Given the description of an element on the screen output the (x, y) to click on. 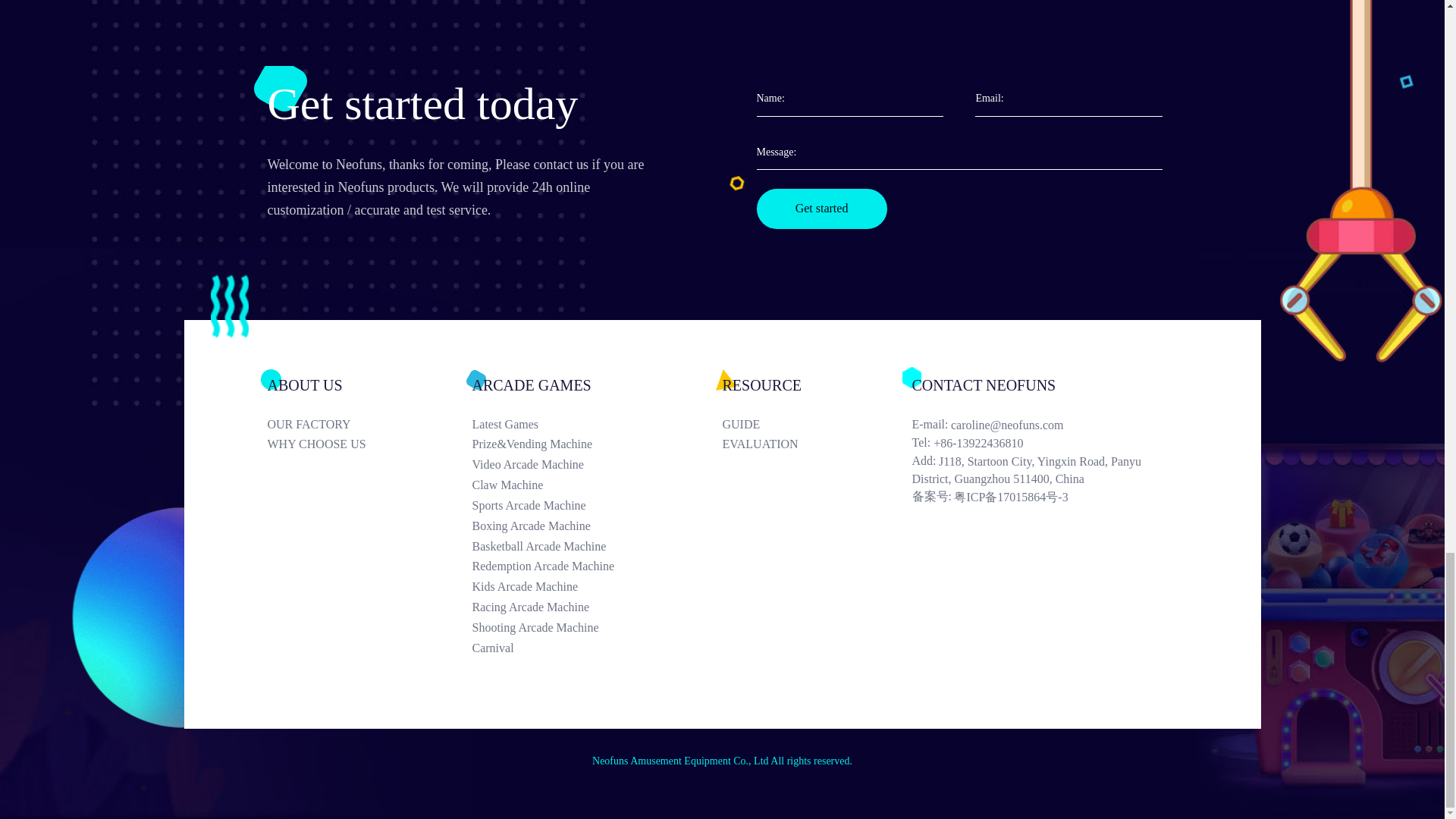
Get started (821, 209)
Sports Arcade Machine (596, 506)
Video Arcade Machine (596, 465)
OUR FACTORY (368, 425)
Claw Machine (596, 485)
Latest Games (596, 425)
WHY CHOOSE US (368, 444)
